Given the description of an element on the screen output the (x, y) to click on. 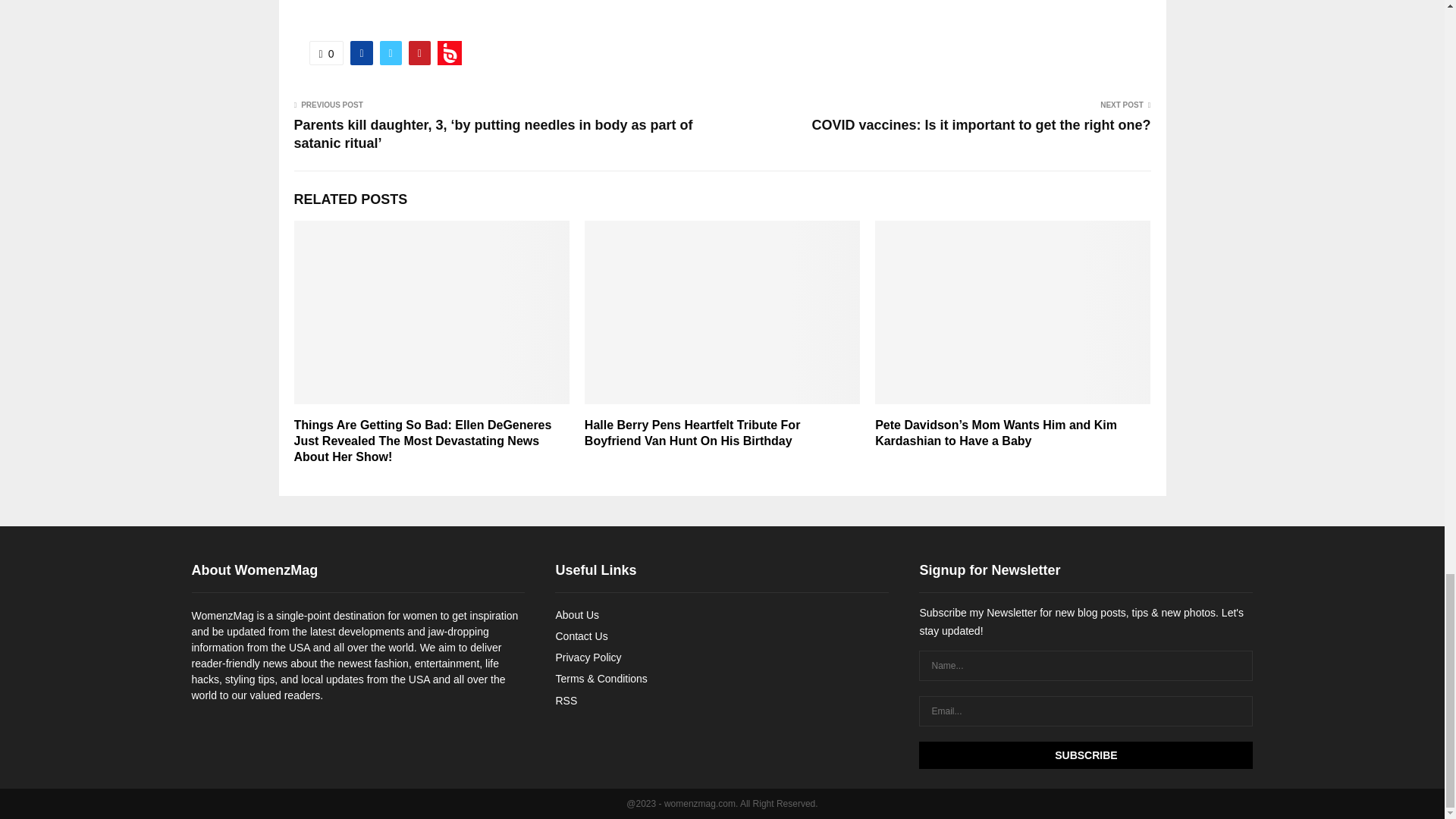
Like (325, 52)
COVID vaccines: Is it important to get the right one? (980, 124)
Subscribe (1085, 755)
0 (325, 52)
